Given the description of an element on the screen output the (x, y) to click on. 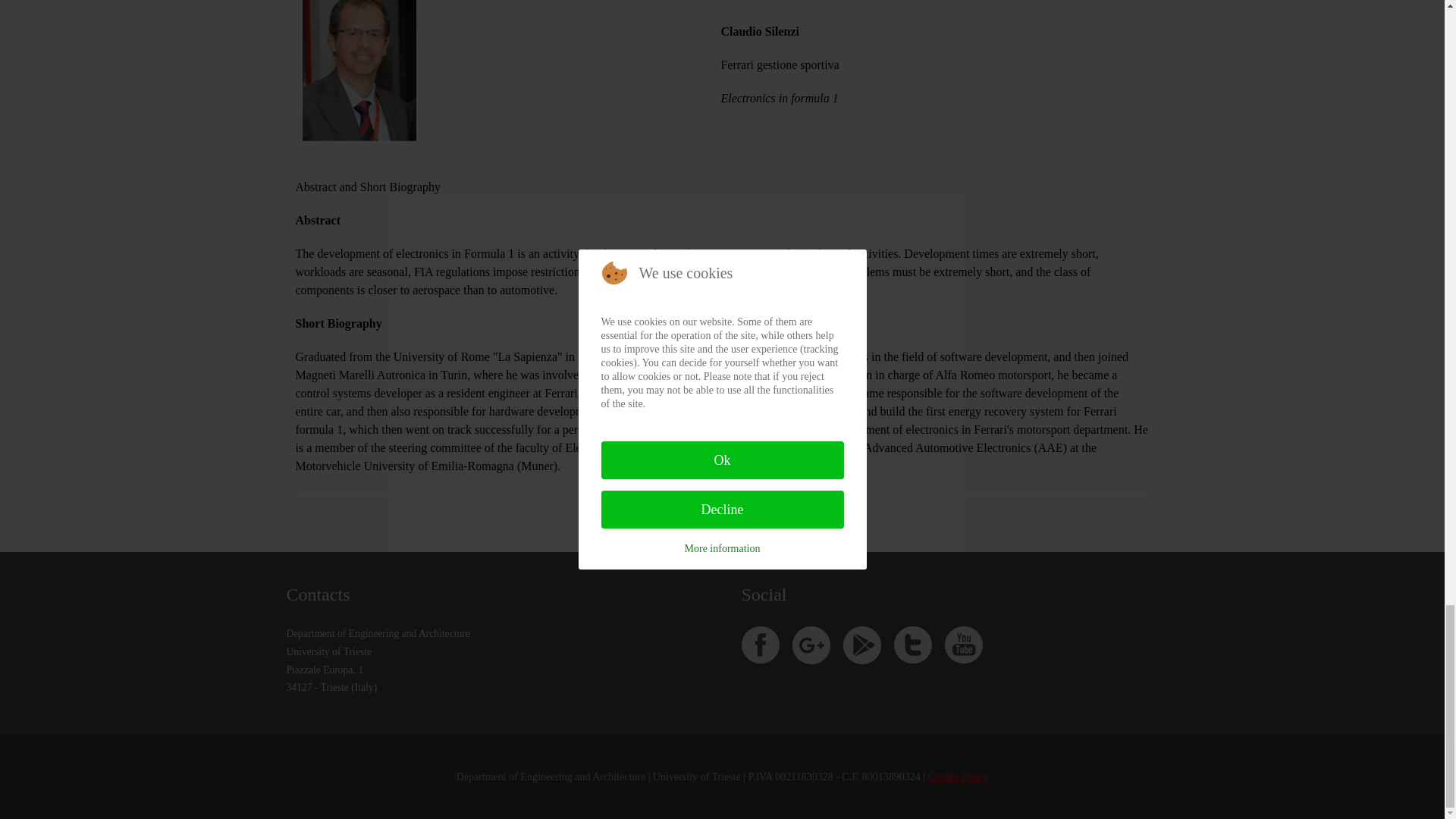
Cookie Policy (958, 776)
